Given the description of an element on the screen output the (x, y) to click on. 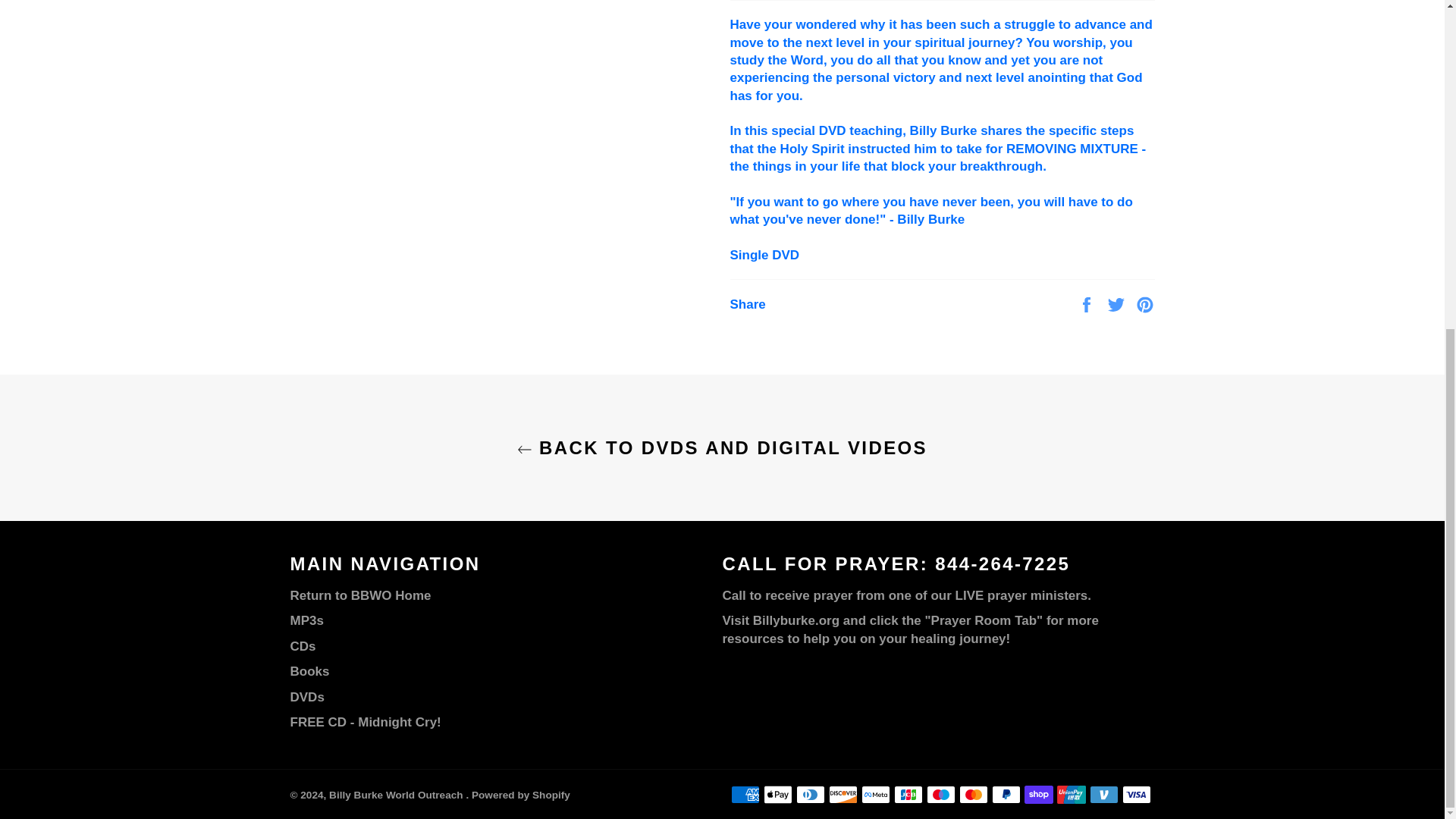
CDs (302, 646)
Tweet on Twitter (1117, 303)
Tweet on Twitter (1117, 303)
Share on Facebook (1088, 303)
Pin on Pinterest (1144, 303)
Return to BBWO Home (359, 595)
BACK TO DVDS AND DIGITAL VIDEOS (721, 447)
DVDs (306, 697)
Pin on Pinterest (1144, 303)
Books (309, 671)
Share on Facebook (1088, 303)
MP3s (306, 620)
